Given the description of an element on the screen output the (x, y) to click on. 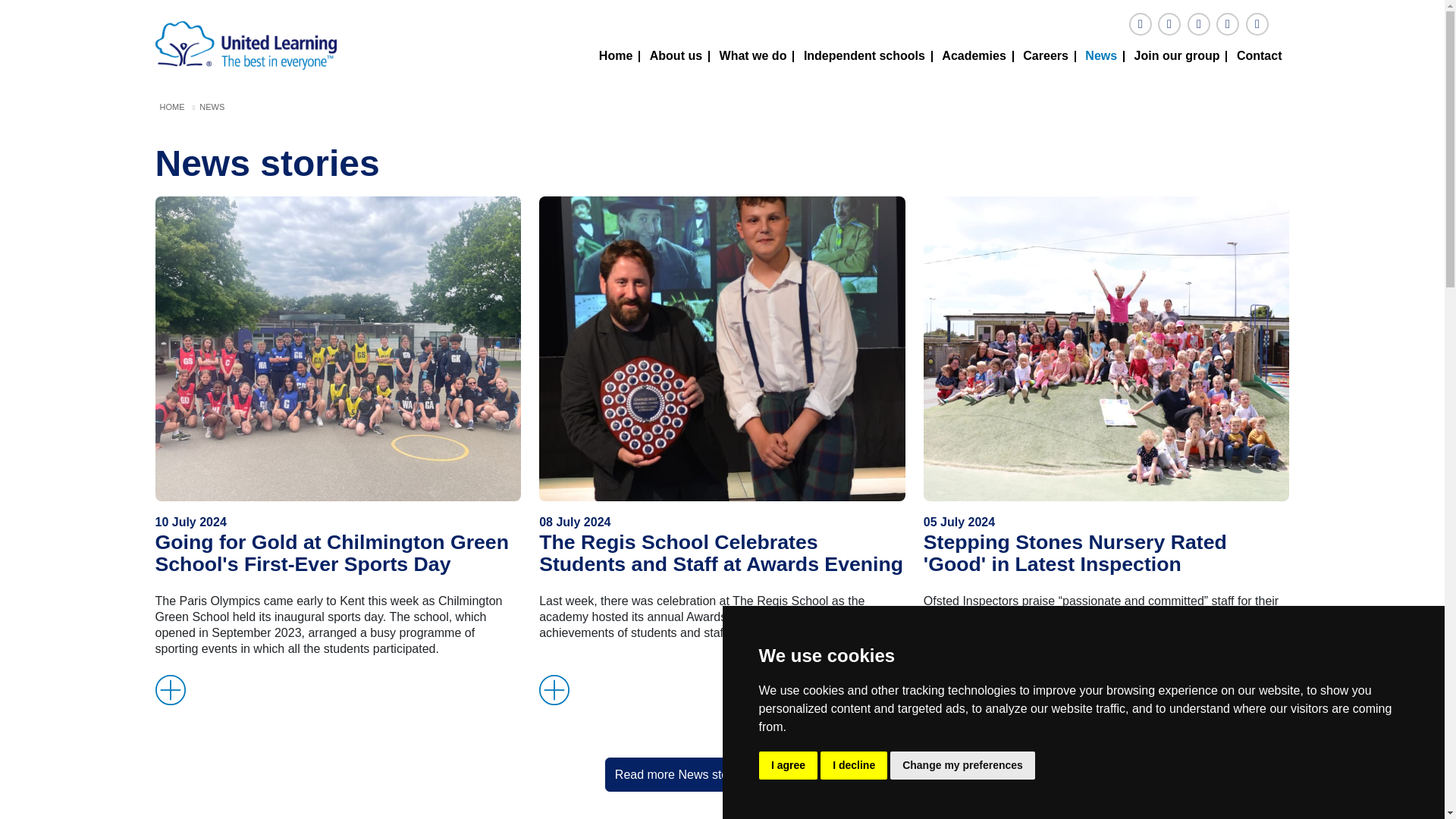
Twitter (1168, 24)
Search (1256, 24)
YouTube (1227, 24)
Home (616, 56)
Change my preferences (962, 765)
LinkedIn (1198, 24)
What we do (753, 56)
United Learning (245, 43)
About us (676, 56)
Facebook (1140, 24)
I decline (853, 765)
I agree (787, 765)
